Given the description of an element on the screen output the (x, y) to click on. 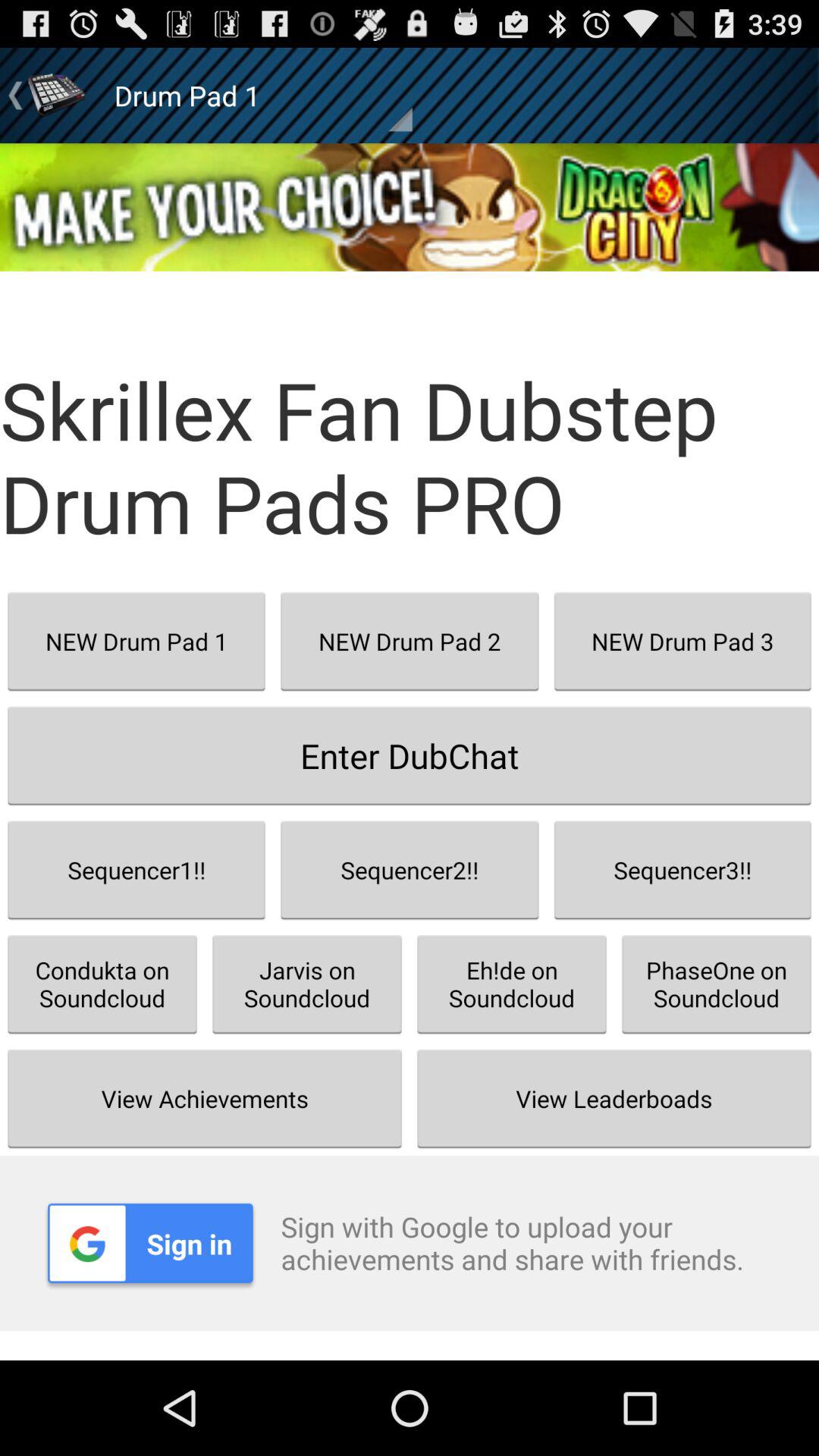
turn on the icon above view achievements button (102, 984)
